Given the description of an element on the screen output the (x, y) to click on. 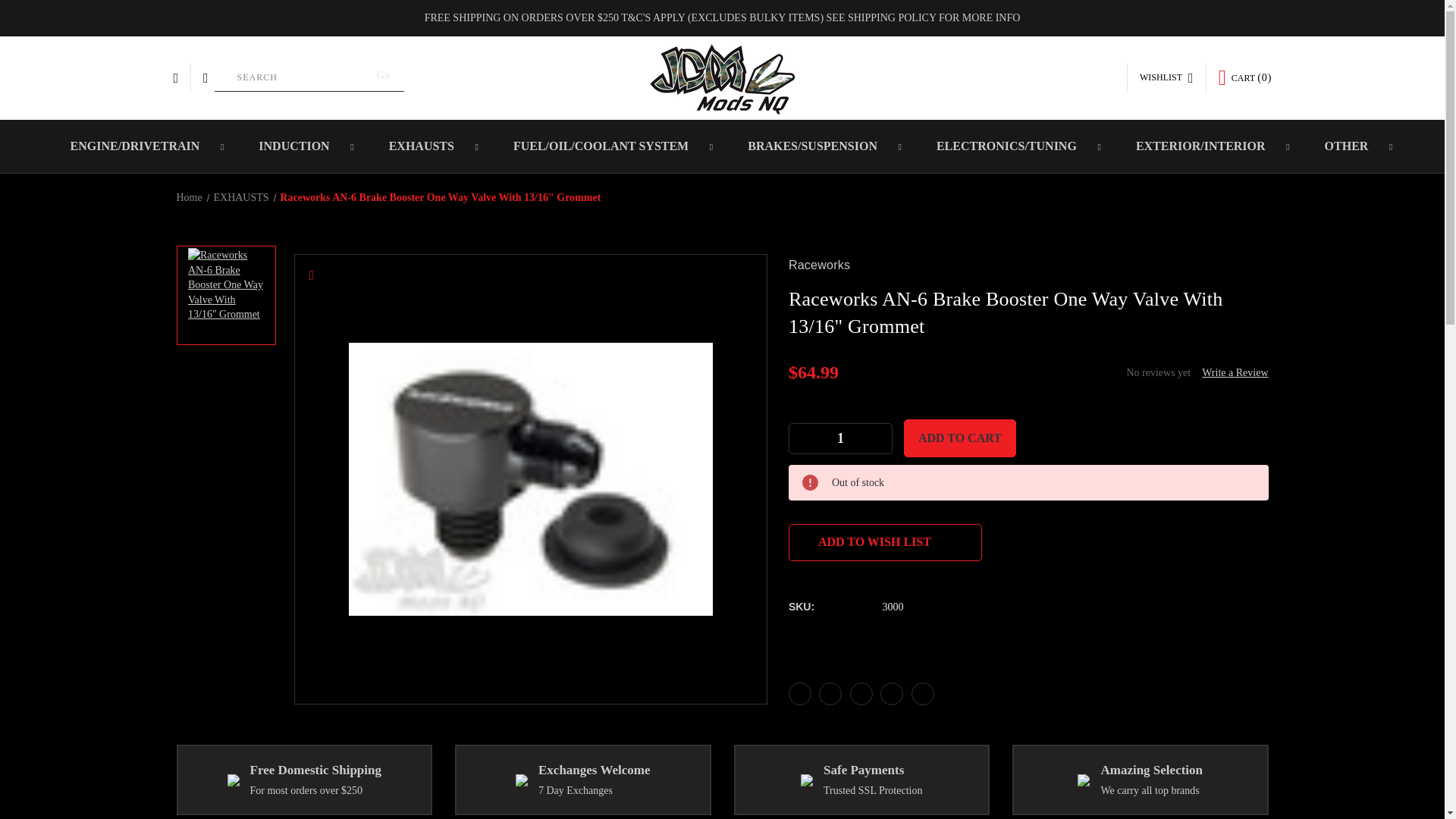
CART 0 (1245, 77)
Free Domestic Shipping (233, 779)
Twitter (891, 693)
Add to Cart (960, 438)
INDUCTION (296, 145)
Amazing Selection (1083, 779)
WISHLIST (1165, 77)
Facebook (799, 693)
Pinterest (922, 693)
Email (829, 693)
